Given the description of an element on the screen output the (x, y) to click on. 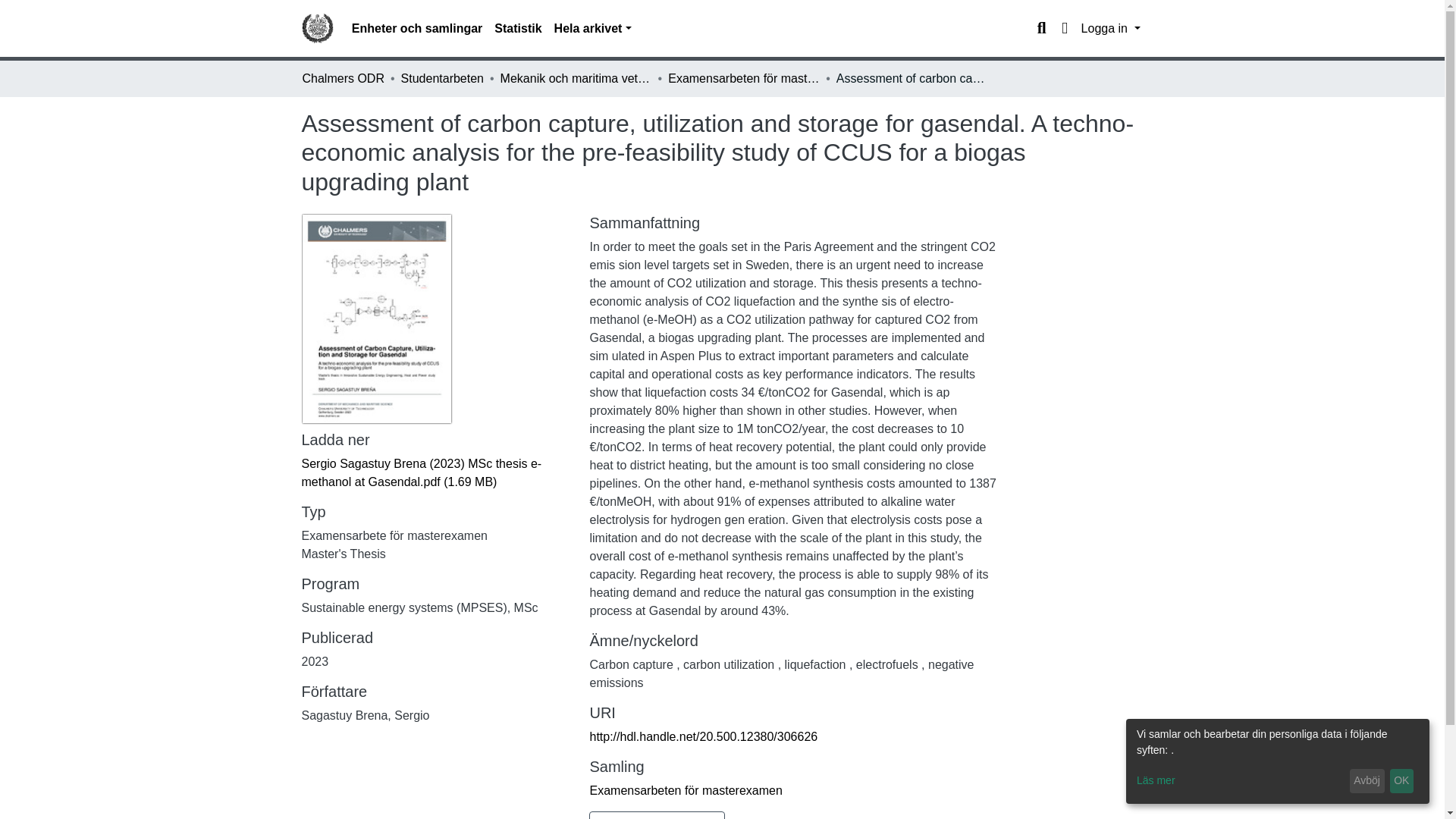
Studentarbeten (442, 78)
Enheter och samlingar (417, 28)
Statistik (517, 28)
Statistik (517, 28)
Hela arkivet (592, 28)
Logga in (1110, 28)
Enheter och samlingar (417, 28)
Chalmers ODR (342, 78)
OK (1401, 781)
